Given the description of an element on the screen output the (x, y) to click on. 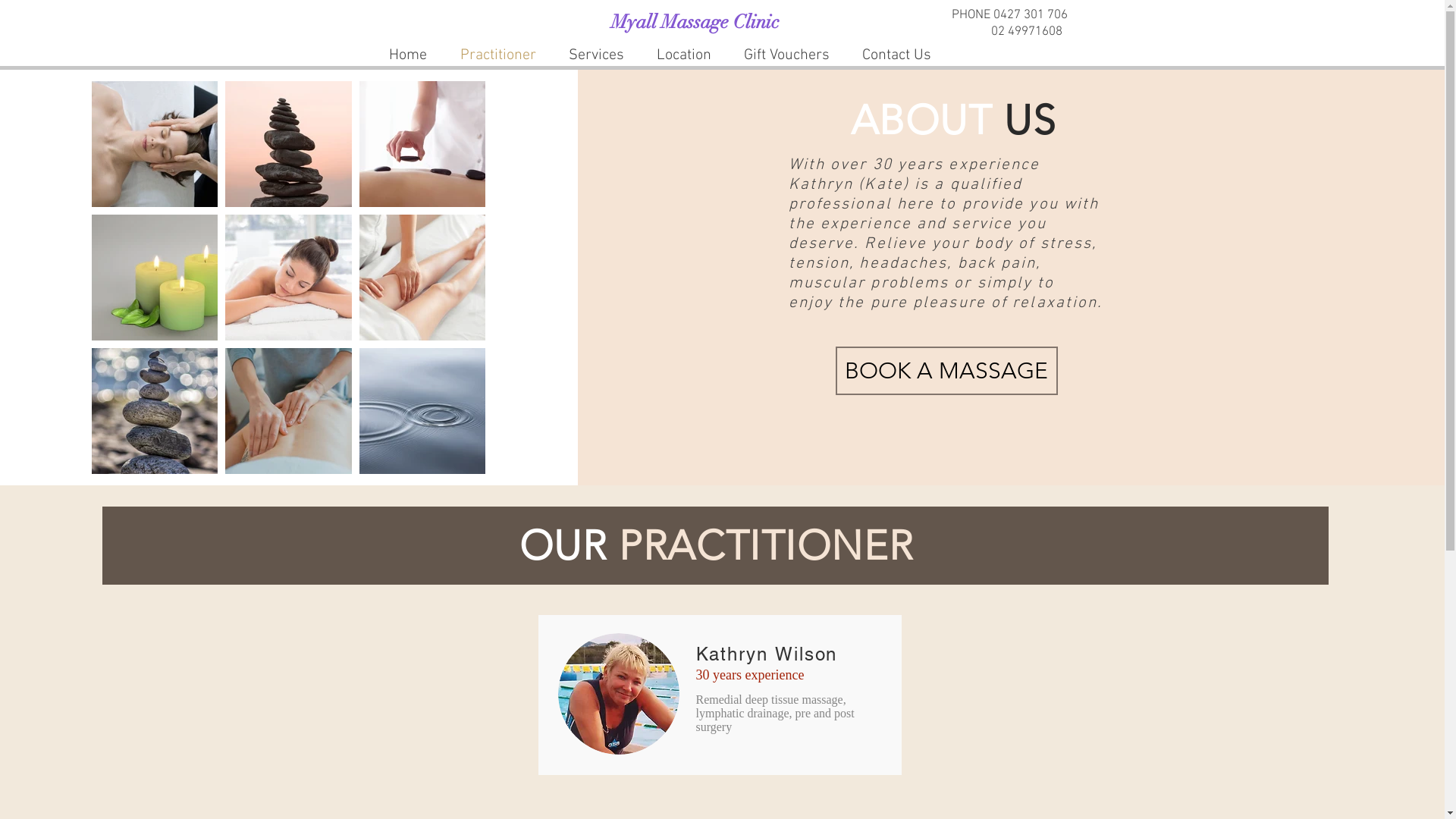
Location Element type: text (683, 55)
Home Element type: text (406, 55)
Gift Vouchers Element type: text (787, 55)
Services Element type: text (596, 55)
BOOK A MASSAGE Element type: text (946, 370)
Practitioner Element type: text (497, 55)
Contact Us Element type: text (896, 55)
